Given the description of an element on the screen output the (x, y) to click on. 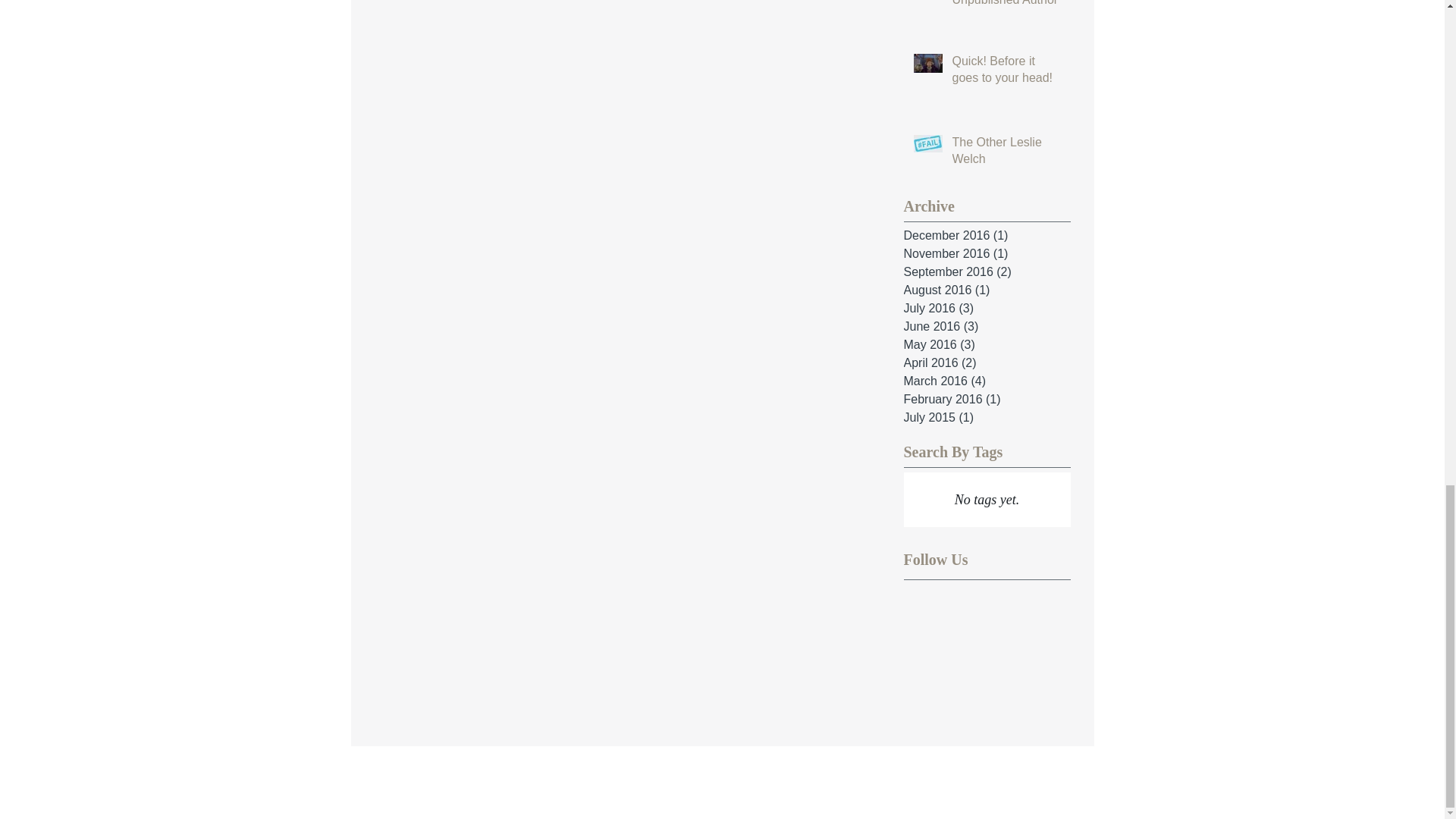
Quick! Before it goes to your head! (1006, 73)
My Last Night as an Unpublished Author (1006, 7)
The Other Leslie Welch (1006, 154)
